Given the description of an element on the screen output the (x, y) to click on. 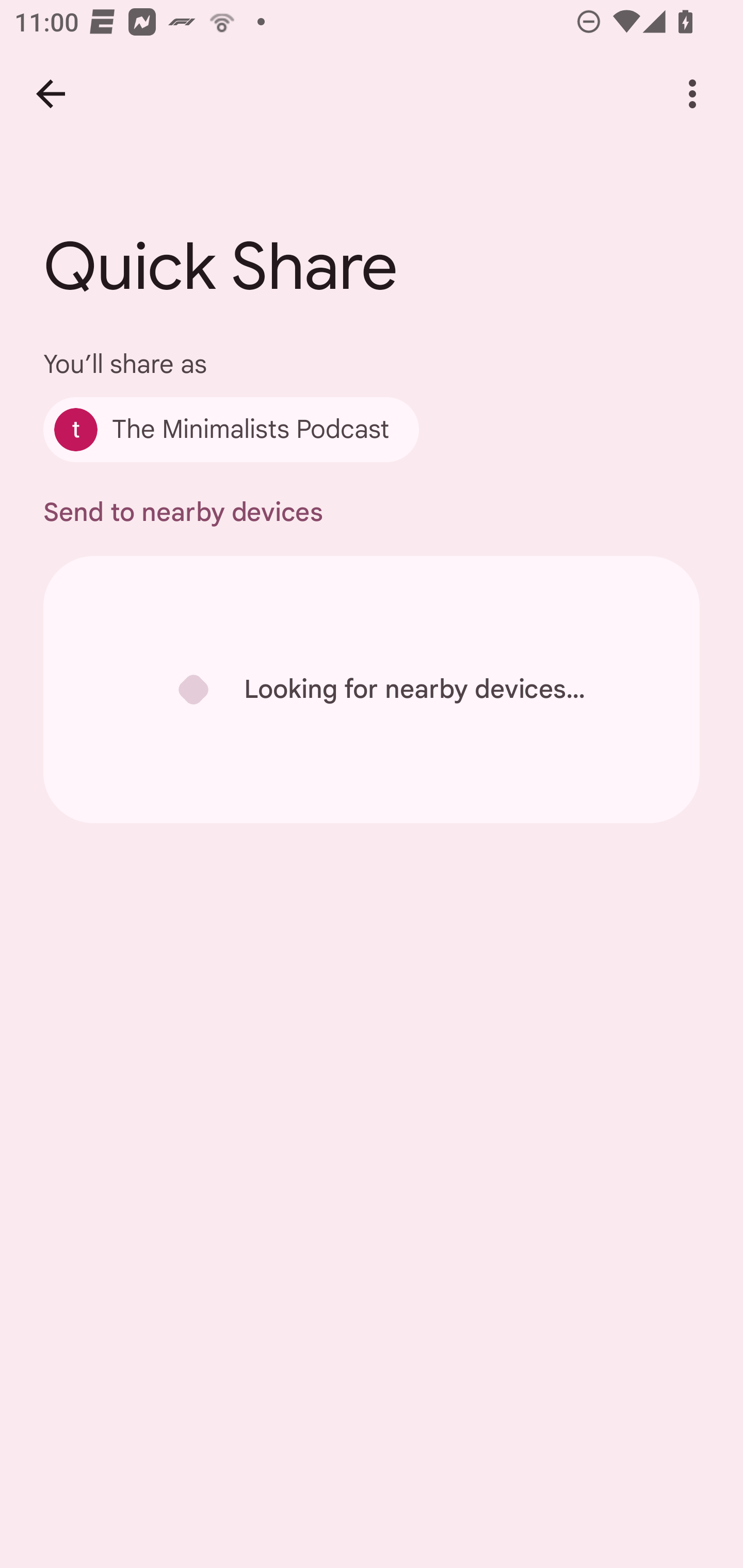
Back (50, 93)
More (692, 93)
The Minimalists Podcast (231, 429)
